Given the description of an element on the screen output the (x, y) to click on. 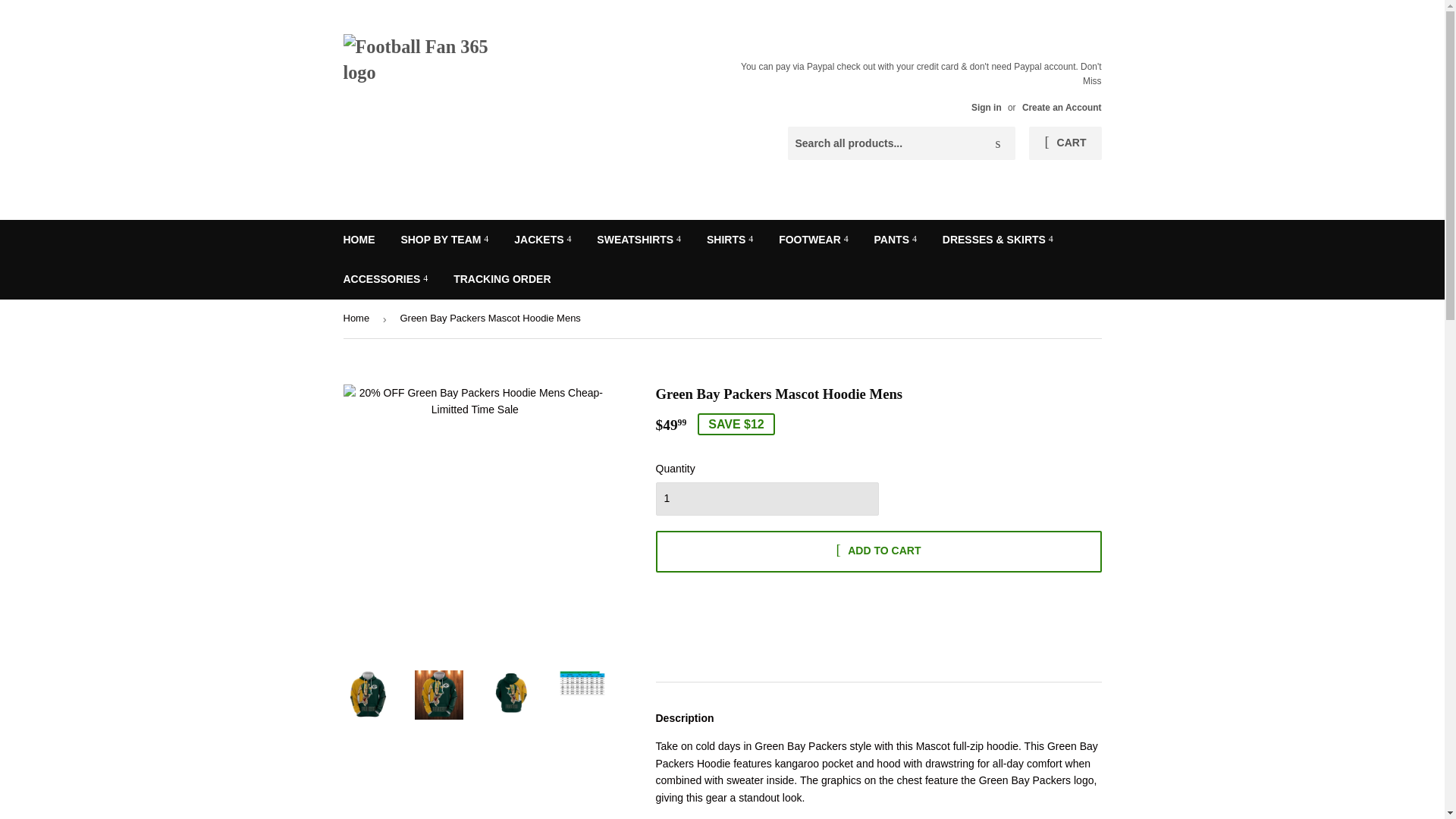
1 (766, 498)
Search (997, 143)
CART (1064, 142)
Create an Account (1062, 107)
Sign in (986, 107)
